Given the description of an element on the screen output the (x, y) to click on. 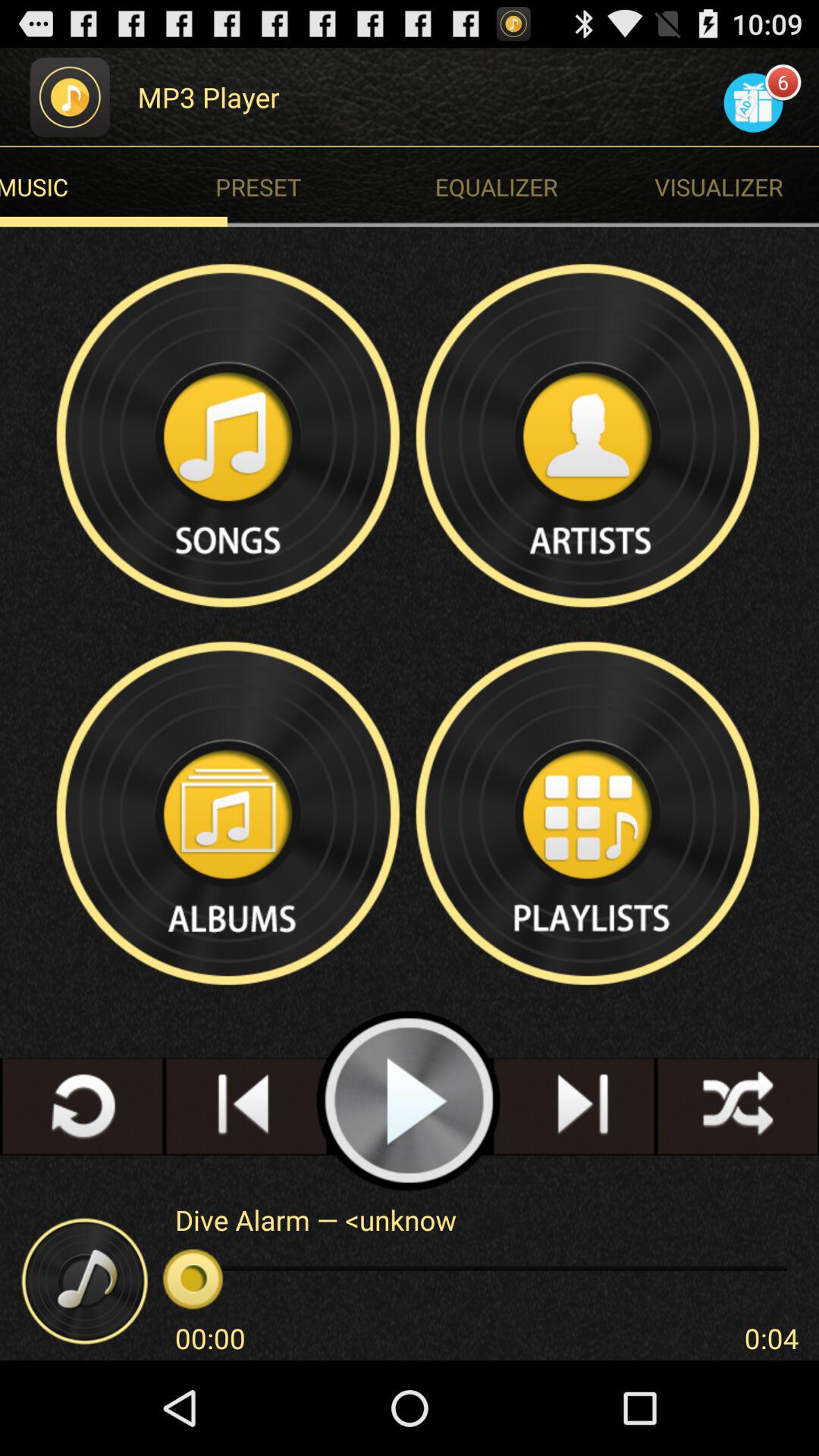
show playlists (588, 813)
